Given the description of an element on the screen output the (x, y) to click on. 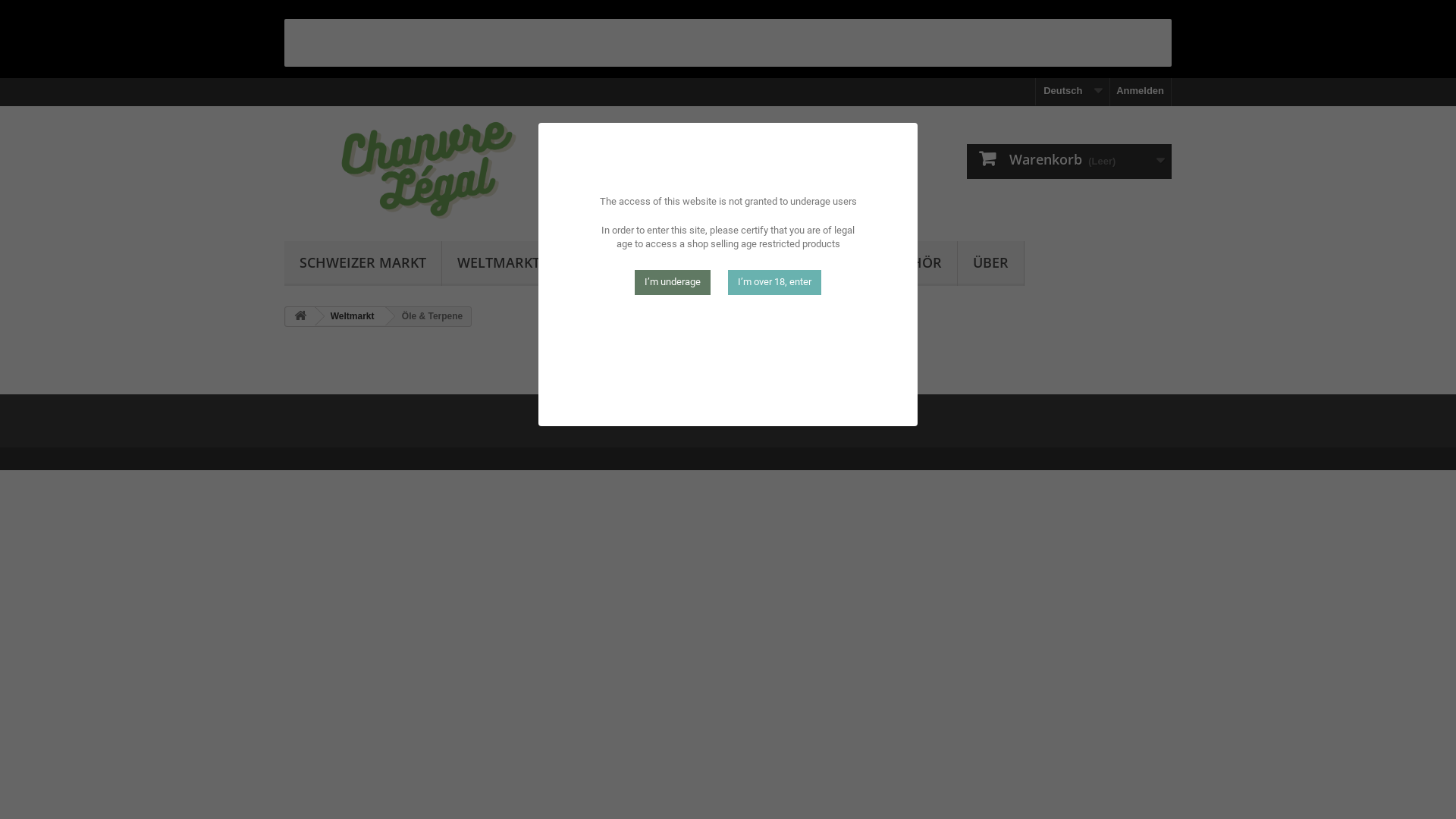
WELTMARKT Element type: text (498, 263)
Anmelden Element type: text (1140, 91)
KOSMETIK Element type: text (812, 263)
LEBENSMITTEL Element type: text (698, 263)
SCHWEIZER MARKT Element type: text (362, 263)
Warenkorb (Leer) Element type: text (1068, 161)
chanvrelegal Element type: hover (424, 168)
ANBAU Element type: text (594, 263)
Weltmarkt Element type: text (349, 316)
